Given the description of an element on the screen output the (x, y) to click on. 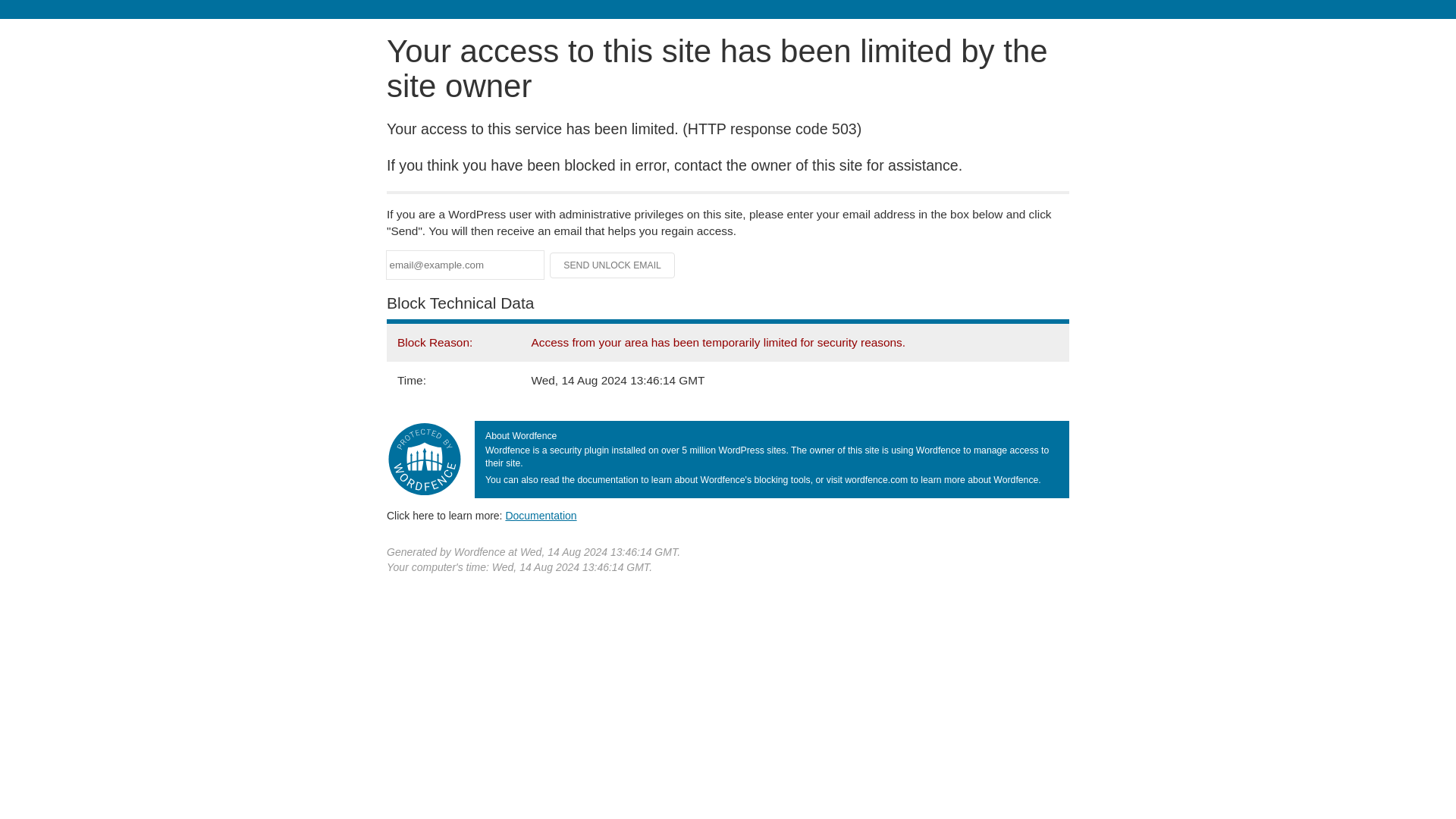
Send Unlock Email (612, 265)
Documentation (540, 515)
Send Unlock Email (612, 265)
